Given the description of an element on the screen output the (x, y) to click on. 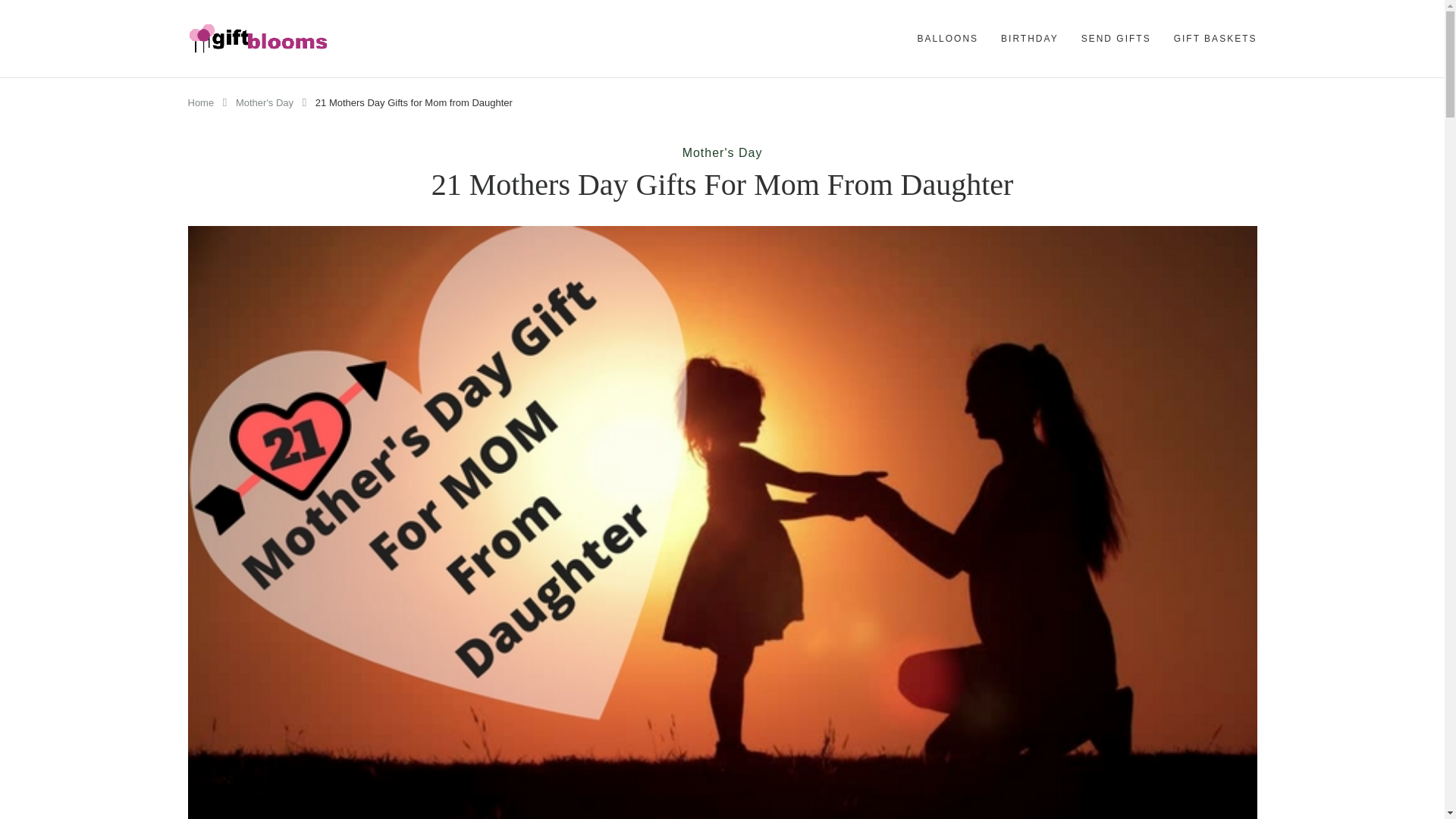
GIFT BASKETS (1215, 38)
Mother's Day (264, 102)
BIRTHDAY (1029, 38)
Home (200, 102)
Mother's Day (722, 152)
BALLOONS (947, 38)
SEND GIFTS (1116, 38)
